Given the description of an element on the screen output the (x, y) to click on. 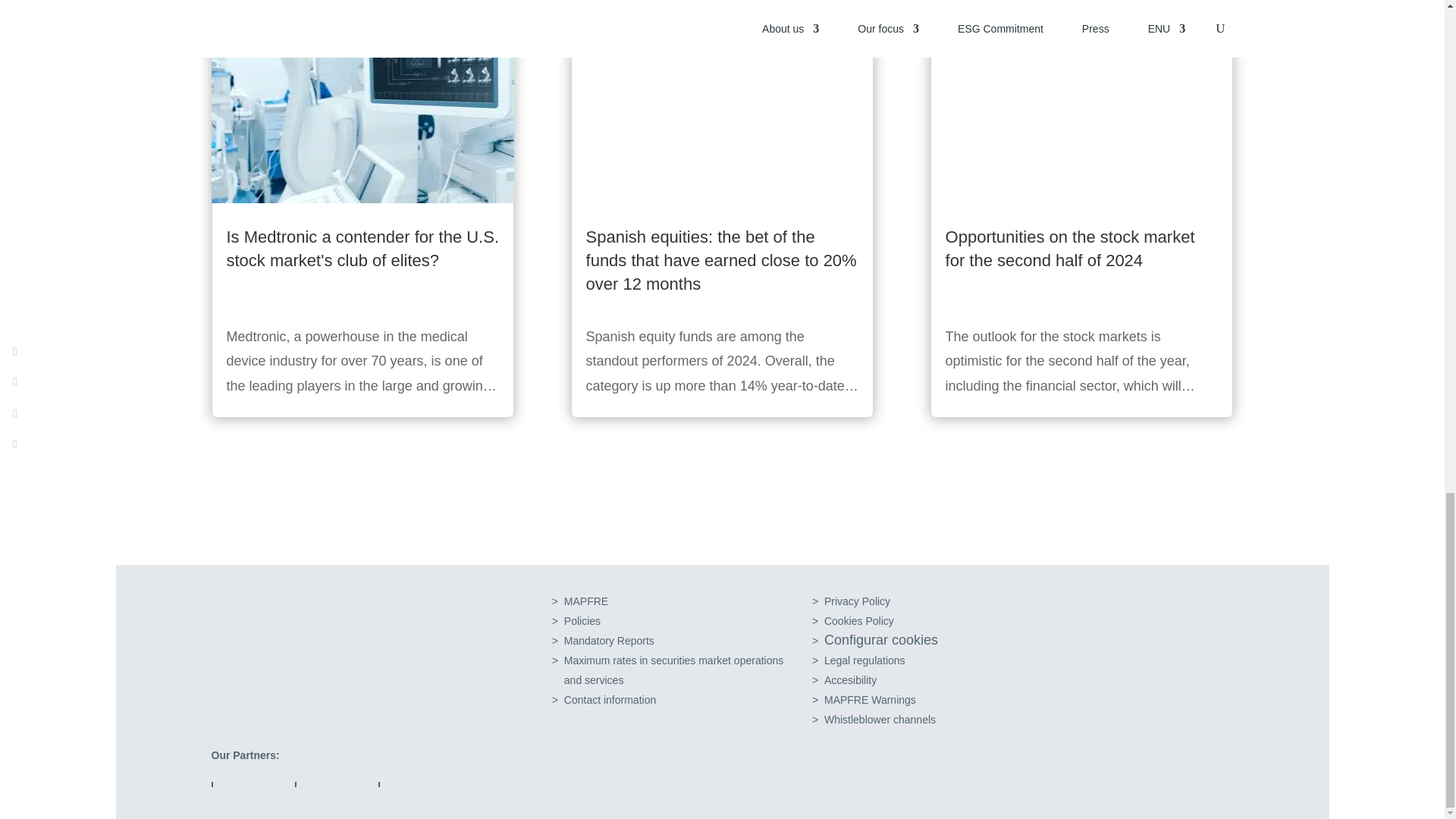
Privacy Policy (856, 601)
Policies (581, 621)
Contact information (610, 699)
Mandatory Reports (608, 640)
MAPFRE (673, 670)
